Given the description of an element on the screen output the (x, y) to click on. 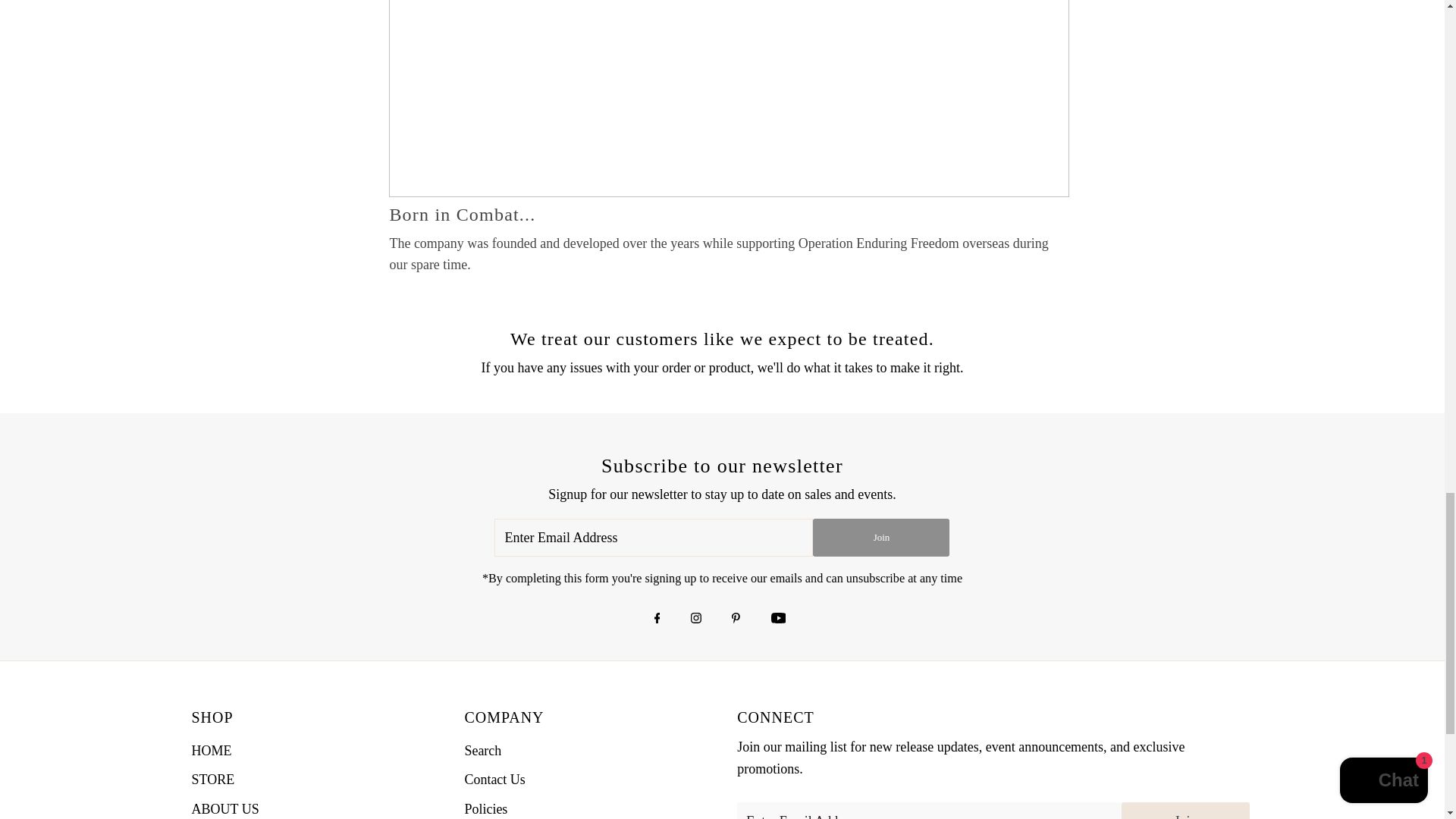
Join (1185, 810)
